Given the description of an element on the screen output the (x, y) to click on. 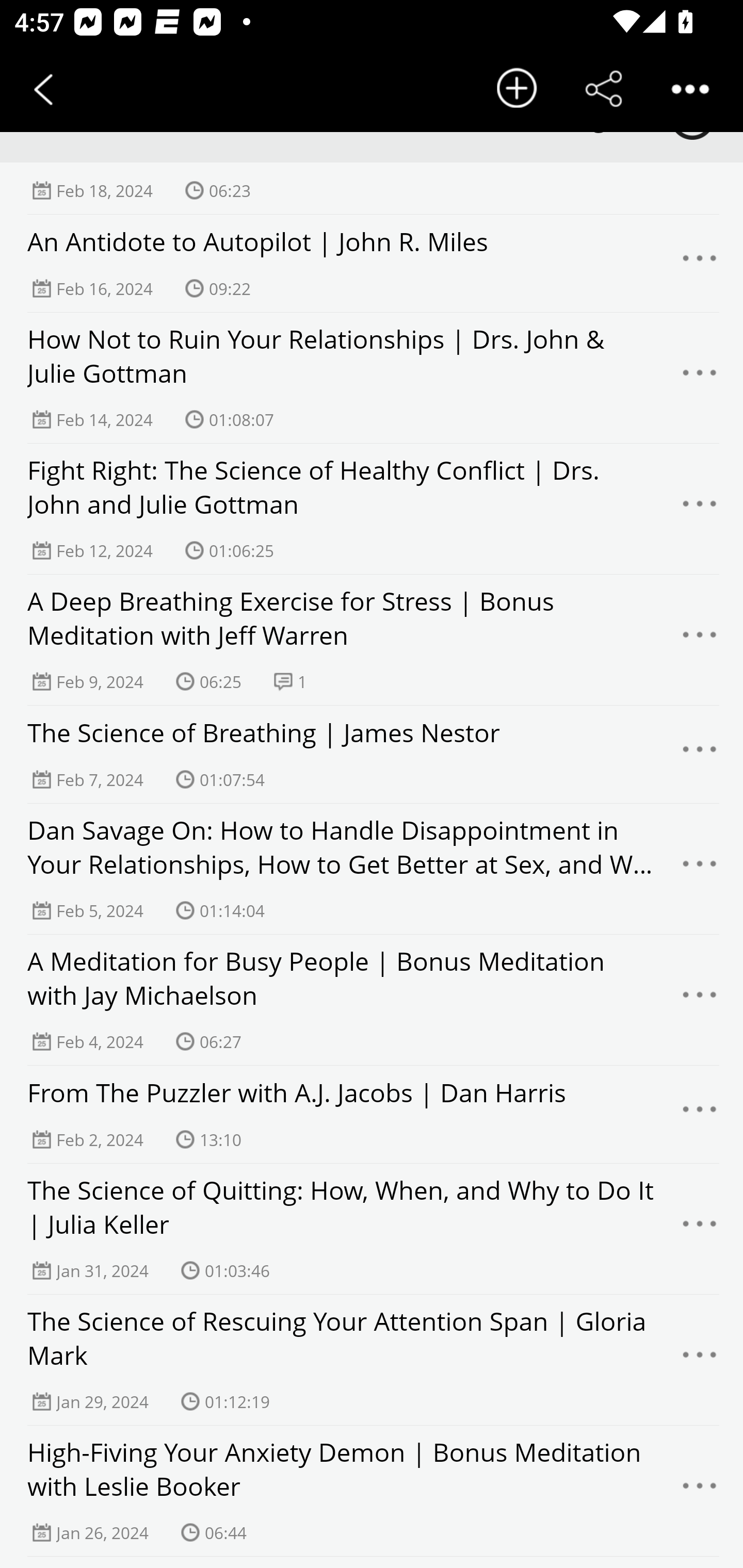
Back (43, 88)
Menu (699, 263)
Menu (699, 377)
Menu (699, 508)
Menu (699, 640)
Menu (699, 754)
Menu (699, 869)
Menu (699, 999)
Menu (699, 1113)
Menu (699, 1229)
Menu (699, 1360)
Menu (699, 1491)
